Given the description of an element on the screen output the (x, y) to click on. 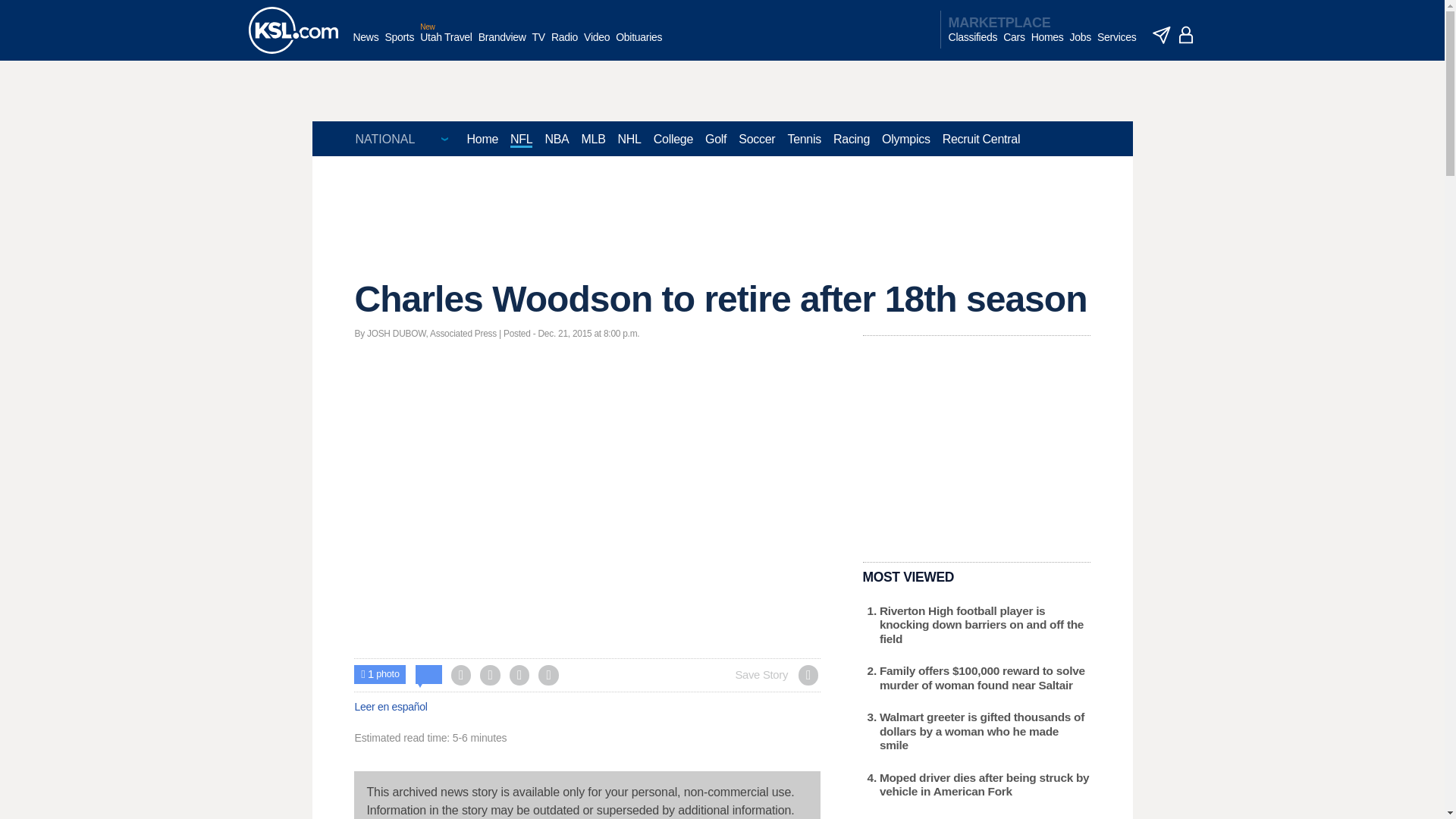
KSL homepage (292, 30)
Brandview (502, 45)
Sports (398, 45)
Utah Travel (445, 45)
KSL homepage (292, 29)
account - logged out (1185, 34)
